Given the description of an element on the screen output the (x, y) to click on. 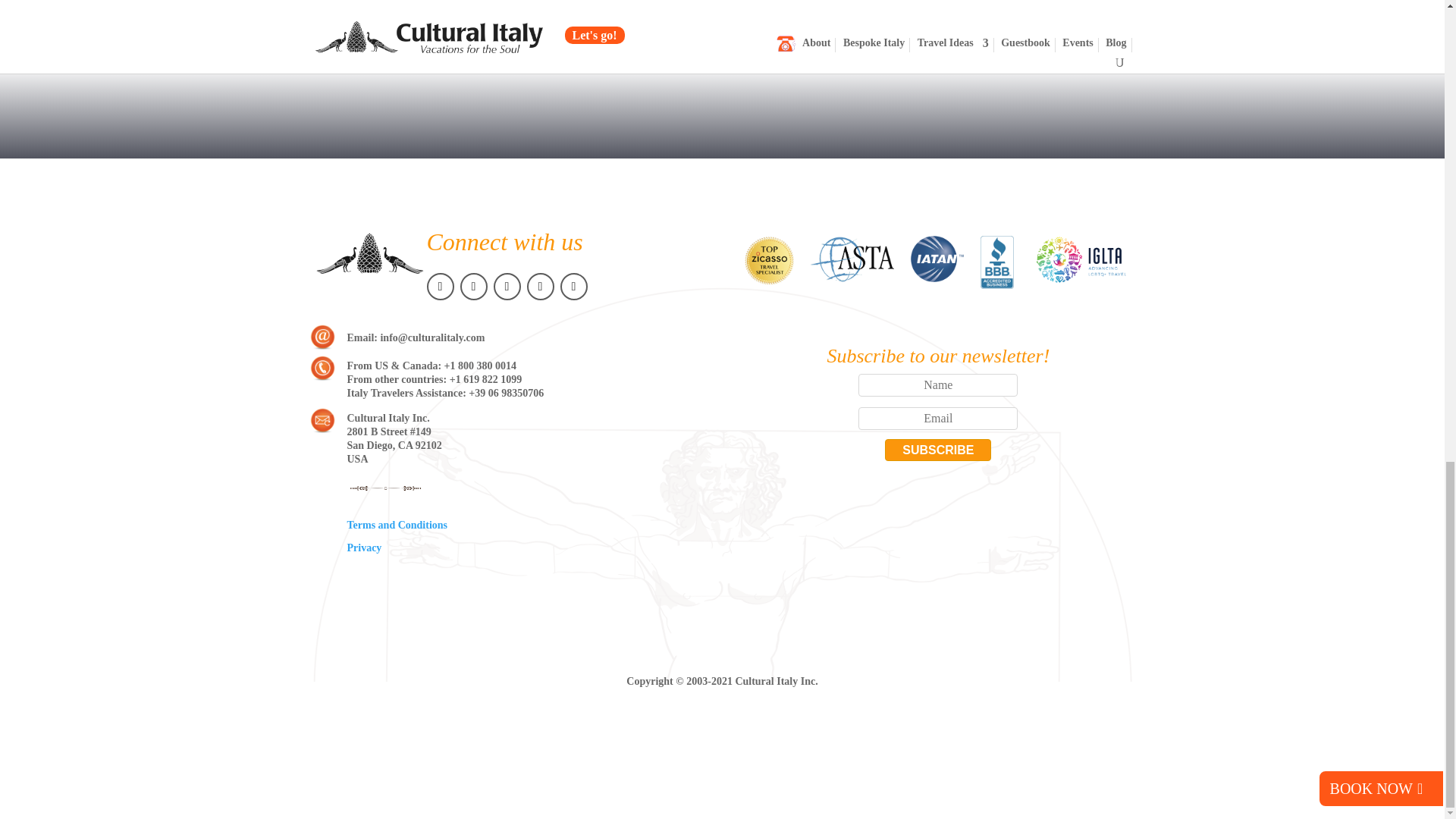
Follow on LinkedIn (572, 286)
Follow on Pinterest (539, 286)
Follow on Facebook (439, 286)
Follow on Instagram (506, 286)
Follow on X (473, 286)
